Given the description of an element on the screen output the (x, y) to click on. 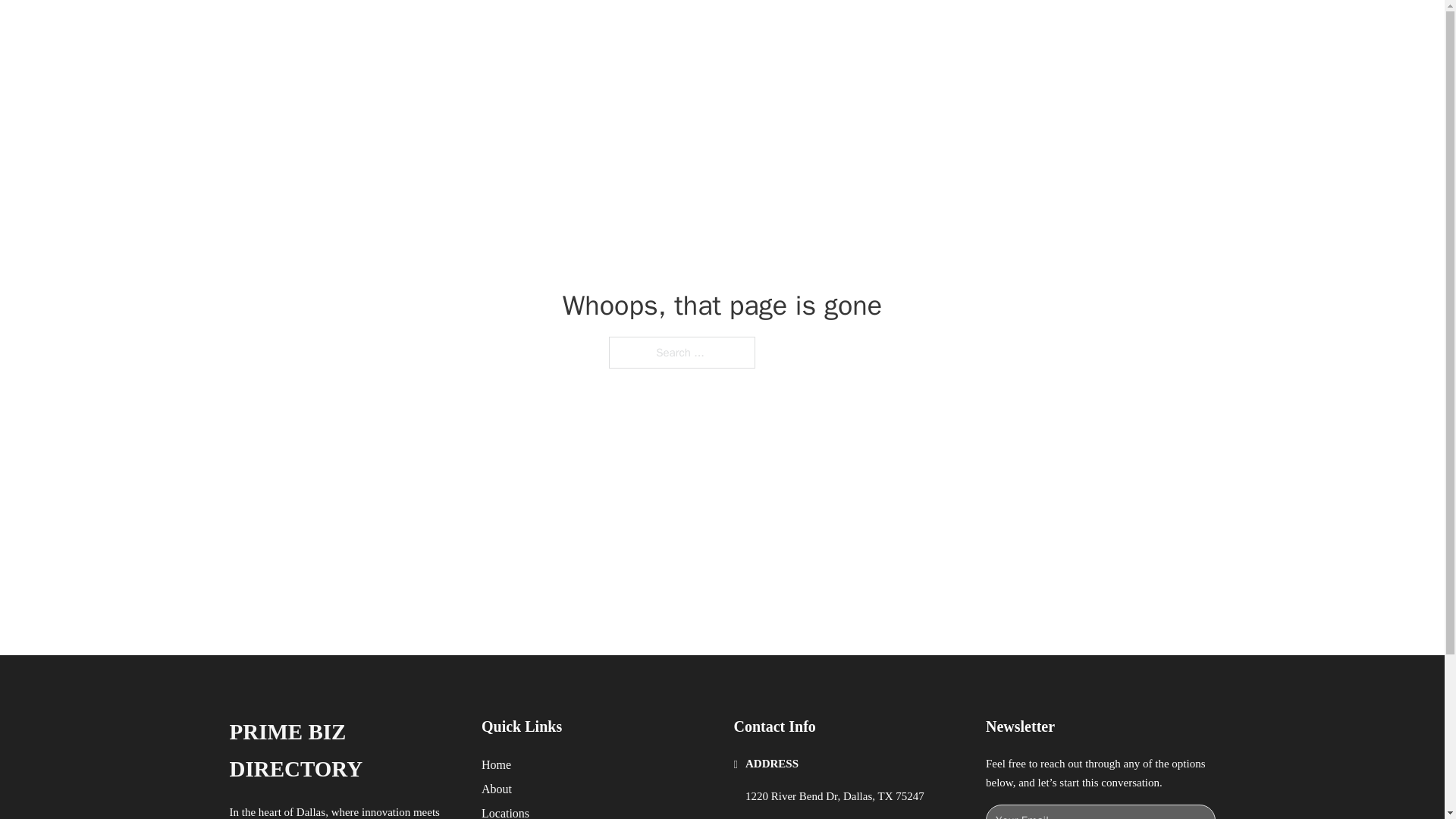
Home (496, 764)
Locations (505, 811)
PRIME BIZ DIRECTORY (343, 750)
LOCATIONS (990, 29)
PRIME BIZ DIRECTORY (421, 28)
HOME (919, 29)
About (496, 788)
